Given the description of an element on the screen output the (x, y) to click on. 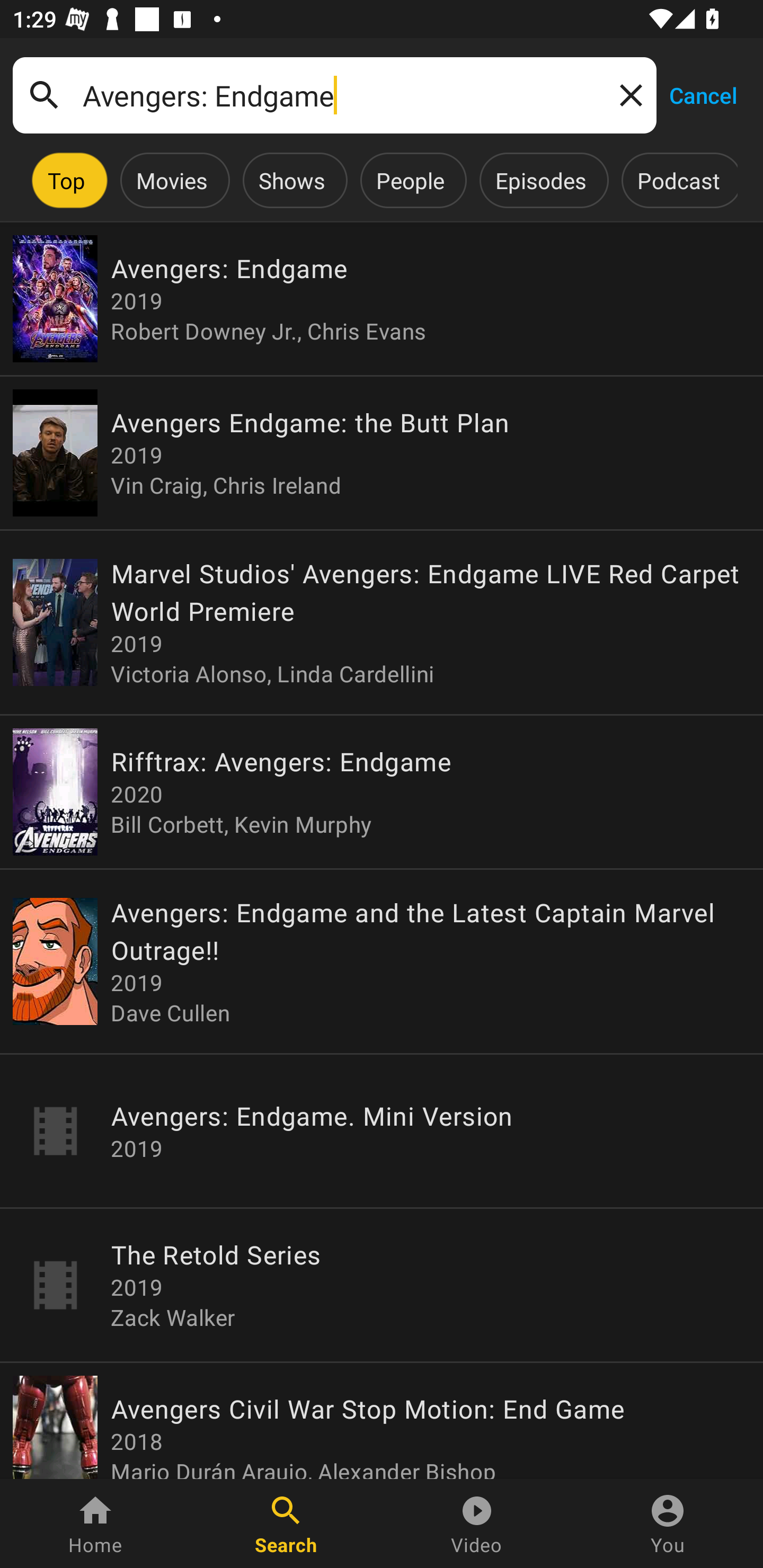
Clear query (627, 94)
Cancel (703, 94)
Avengers: Endgame (334, 95)
Top (66, 180)
Movies (171, 180)
Shows (291, 180)
People (410, 180)
Episodes (540, 180)
Podcast (678, 180)
Avengers: Endgame. Mini Version 2019 (381, 1131)
The Retold Series 2019 Zack Walker (381, 1284)
Home (95, 1523)
Video (476, 1523)
You (667, 1523)
